Given the description of an element on the screen output the (x, y) to click on. 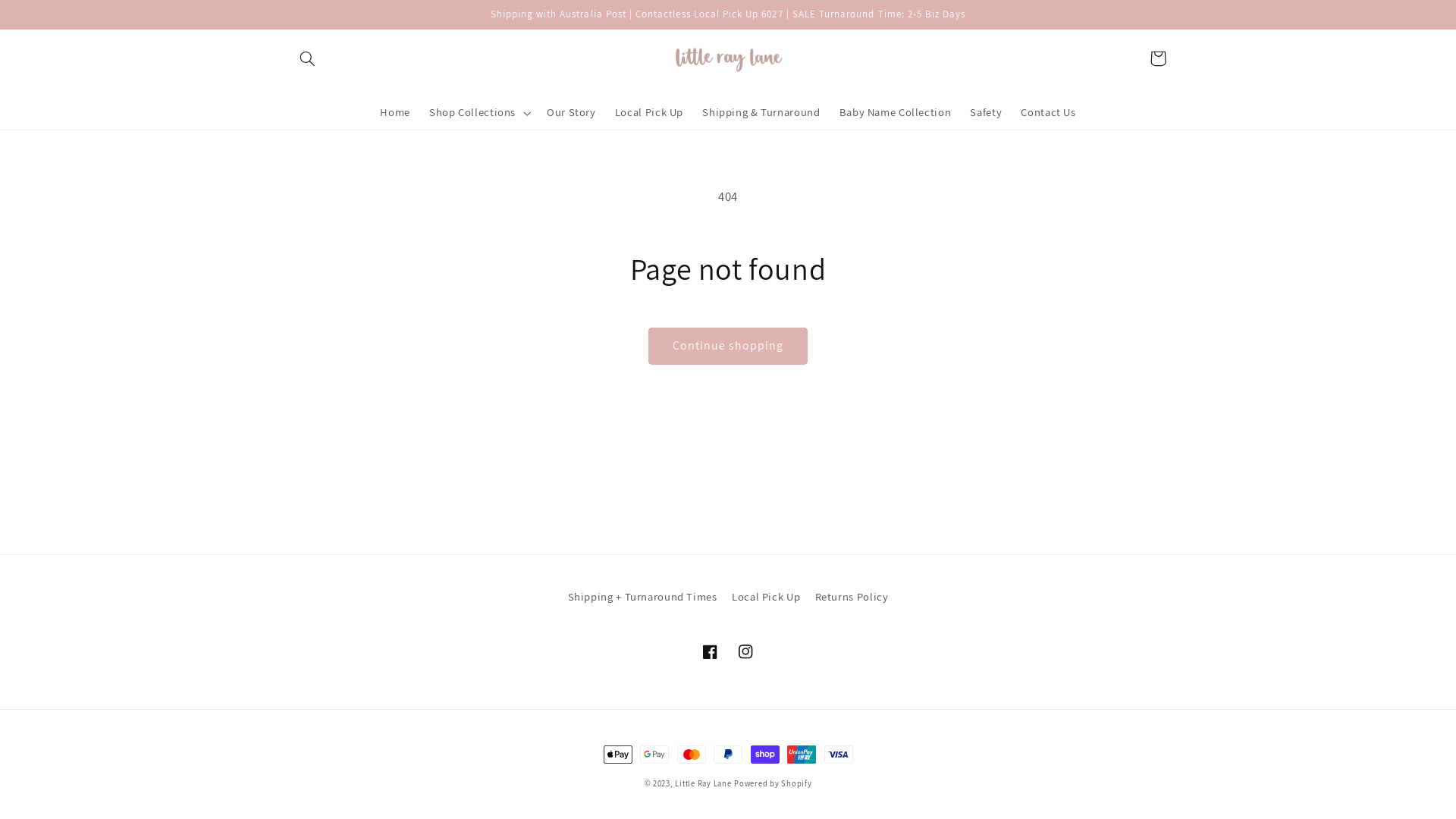
Contact Us Element type: text (1048, 112)
Powered by Shopify Element type: text (772, 783)
Returns Policy Element type: text (851, 595)
Cart Element type: text (1157, 57)
Local Pick Up Element type: text (765, 595)
Little Ray Lane Element type: text (702, 783)
Shipping + Turnaround Times Element type: text (642, 598)
Our Story Element type: text (570, 112)
Safety Element type: text (985, 112)
Instagram Element type: text (745, 650)
Facebook Element type: text (710, 650)
Local Pick Up Element type: text (648, 112)
Shipping & Turnaround Element type: text (761, 112)
Continue shopping Element type: text (727, 345)
Baby Name Collection Element type: text (894, 112)
Home Element type: text (395, 112)
